Given the description of an element on the screen output the (x, y) to click on. 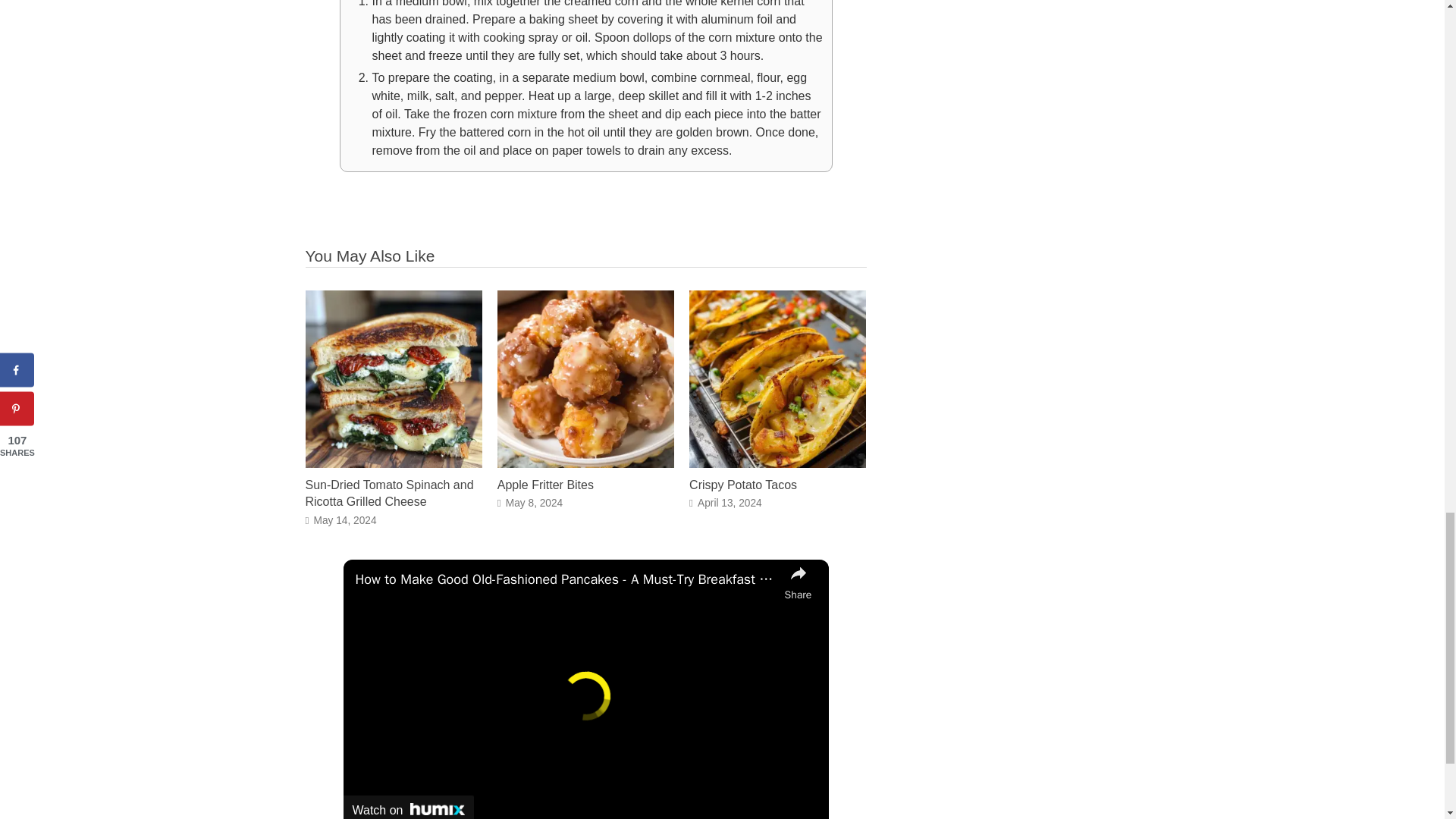
Crispy Potato Tacos (777, 462)
Sun-Dried Tomato Spinach and Ricotta Grilled Cheese (388, 492)
Apple Fritter Bites (545, 484)
Sun-Dried Tomato Spinach and Ricotta Grilled Cheese (392, 462)
Apple Fritter Bites (585, 462)
Crispy Potato Tacos (742, 484)
